Given the description of an element on the screen output the (x, y) to click on. 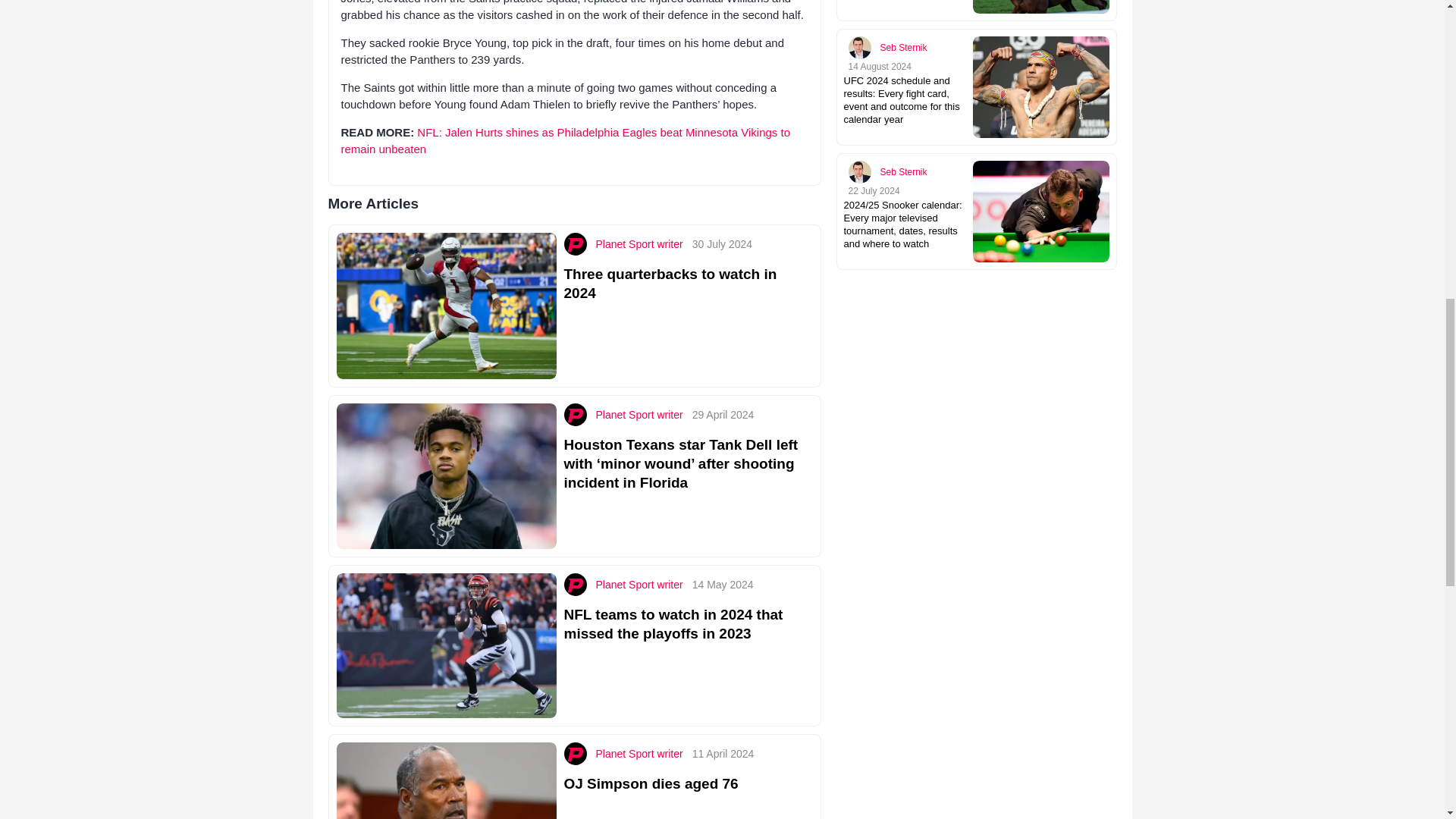
Planet Sport writer (638, 244)
Three quarterbacks to watch in 2024 (670, 283)
Planet Sport writer (638, 414)
